Given the description of an element on the screen output the (x, y) to click on. 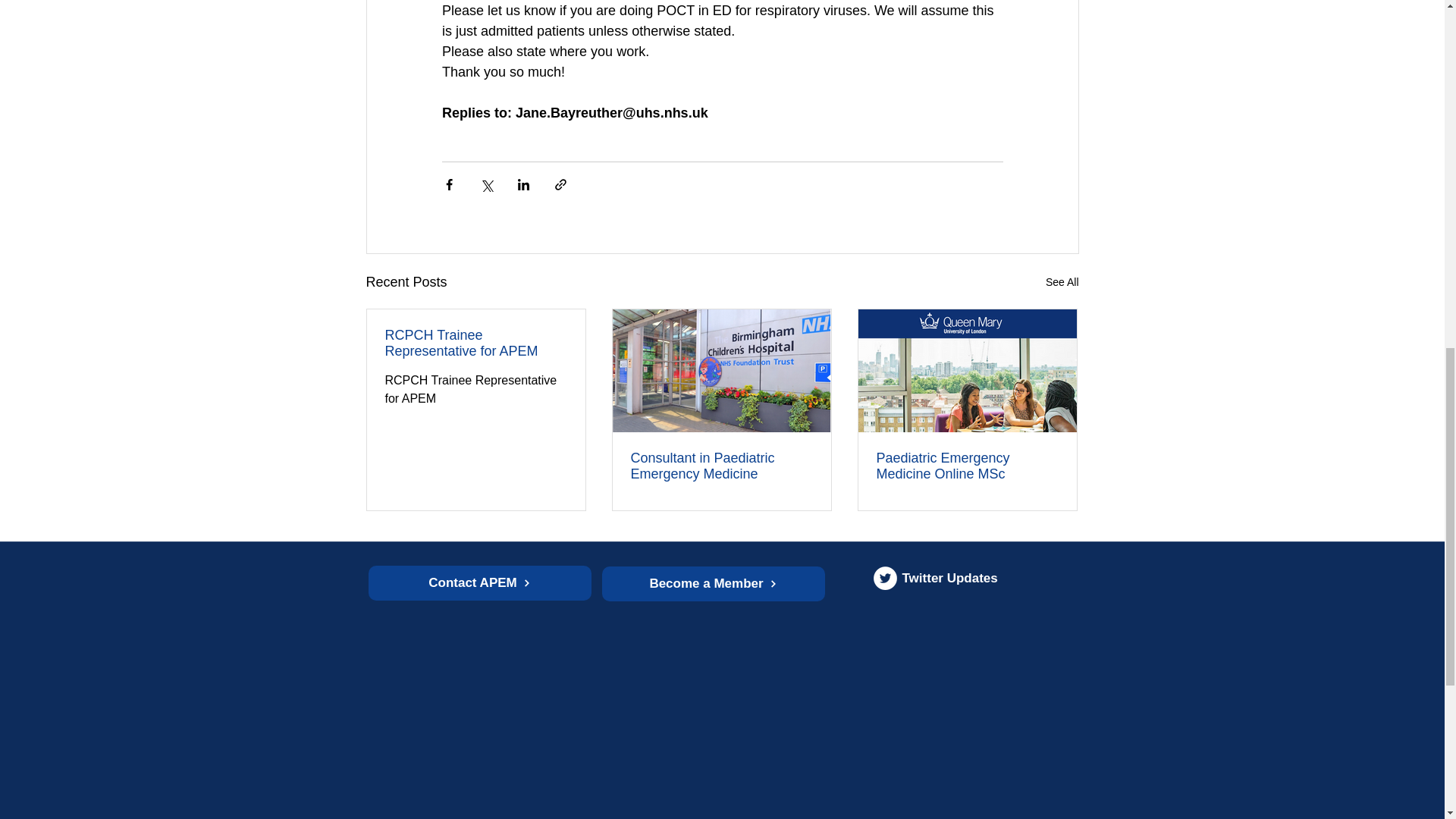
Paediatric Emergency Medicine Online MSc (967, 466)
Consultant in Paediatric Emergency Medicine (721, 466)
RCPCH Trainee Representative for APEM (476, 343)
See All (1061, 282)
Contact APEM (479, 582)
Become a Member (713, 583)
